Given the description of an element on the screen output the (x, y) to click on. 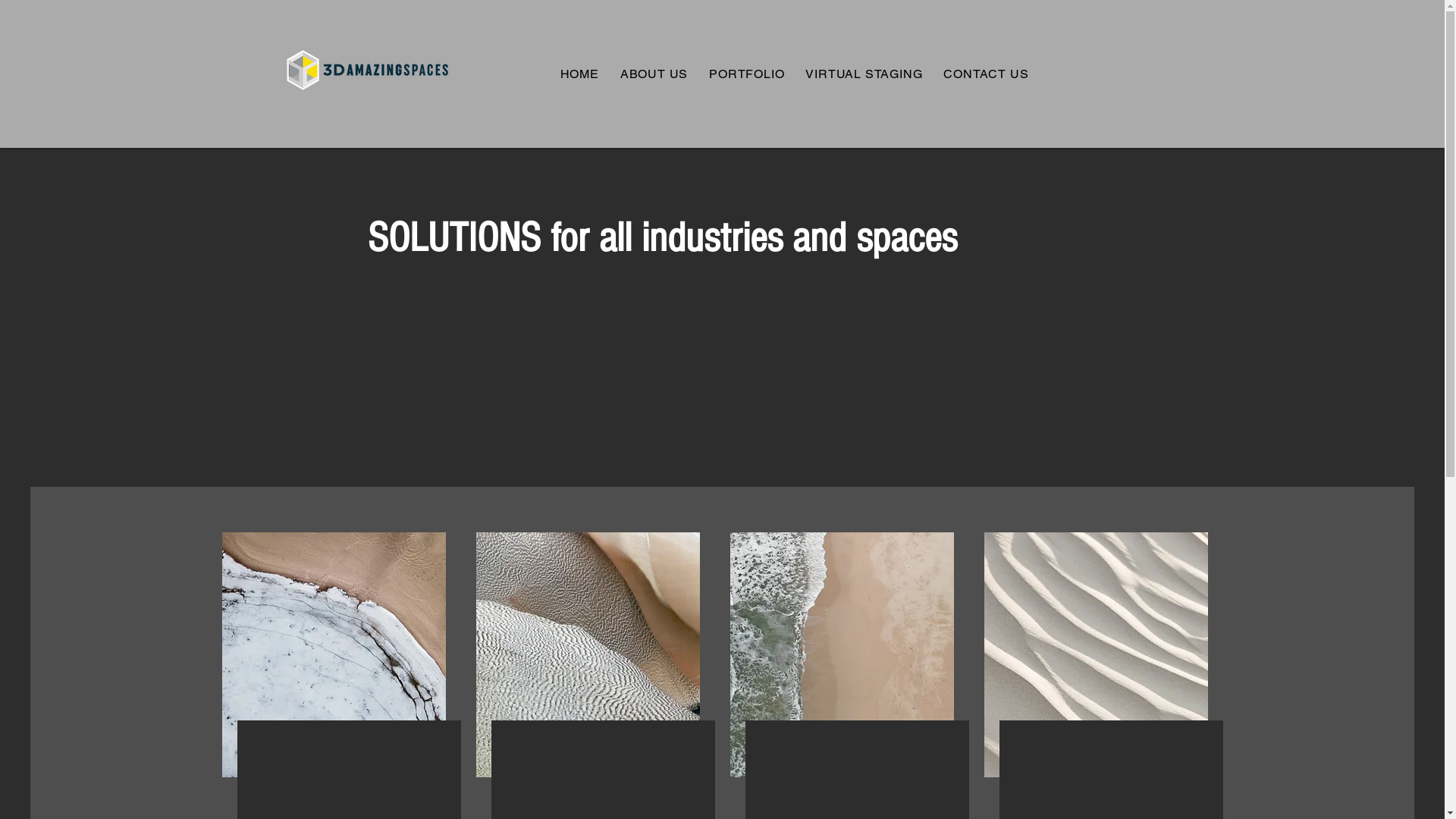
3DAmazingSpaces2.png Element type: hover (365, 69)
PORTFOLIO Element type: text (746, 73)
CONTACT US Element type: text (985, 73)
VIRTUAL STAGING Element type: text (863, 73)
HOME Element type: text (578, 73)
ABOUT US Element type: text (653, 73)
